Given the description of an element on the screen output the (x, y) to click on. 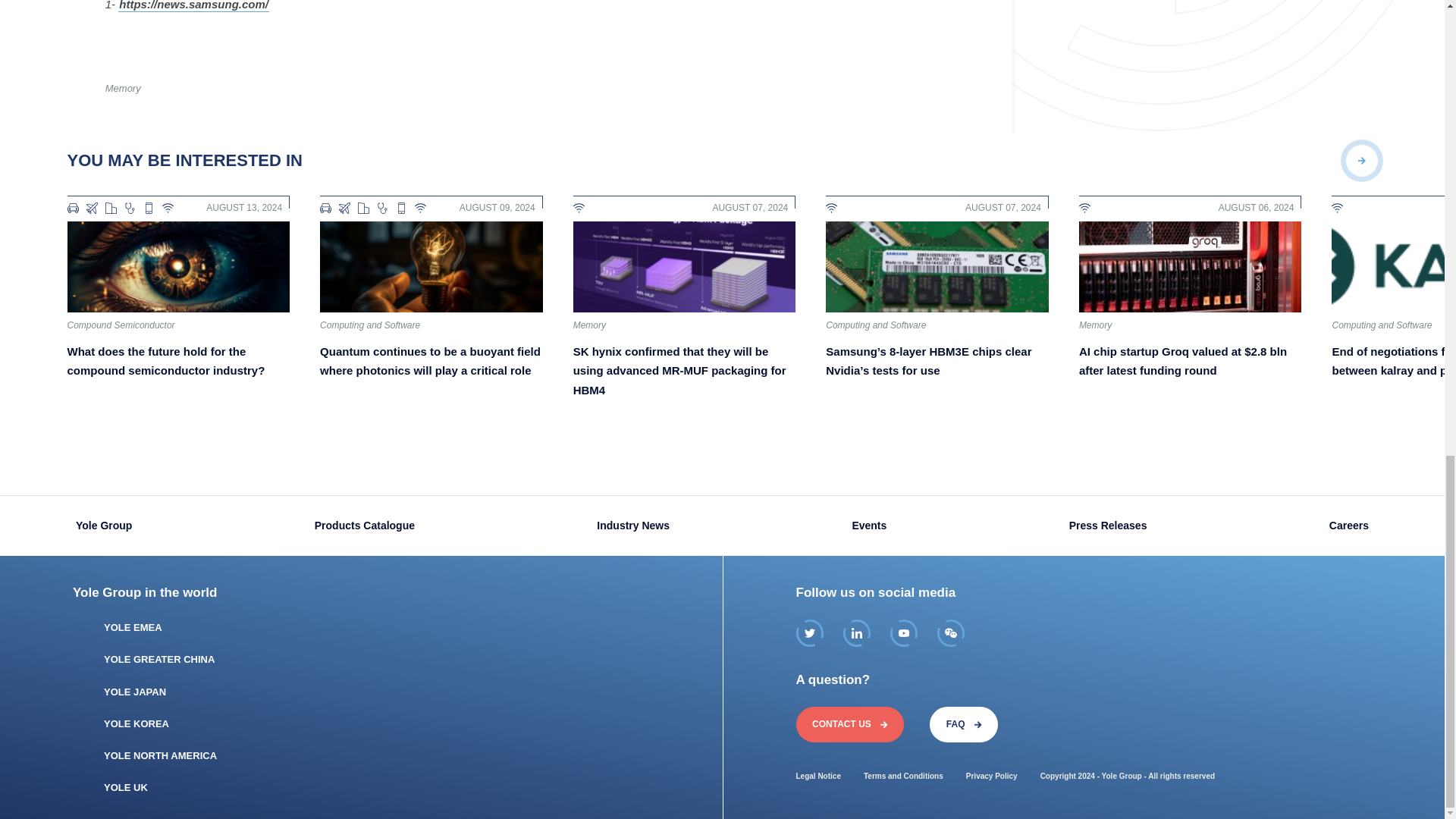
Follow us on twitter (810, 633)
Follow us on youtube (903, 633)
Follow us on wechat (950, 633)
Follow us on linkedin (856, 633)
